Given the description of an element on the screen output the (x, y) to click on. 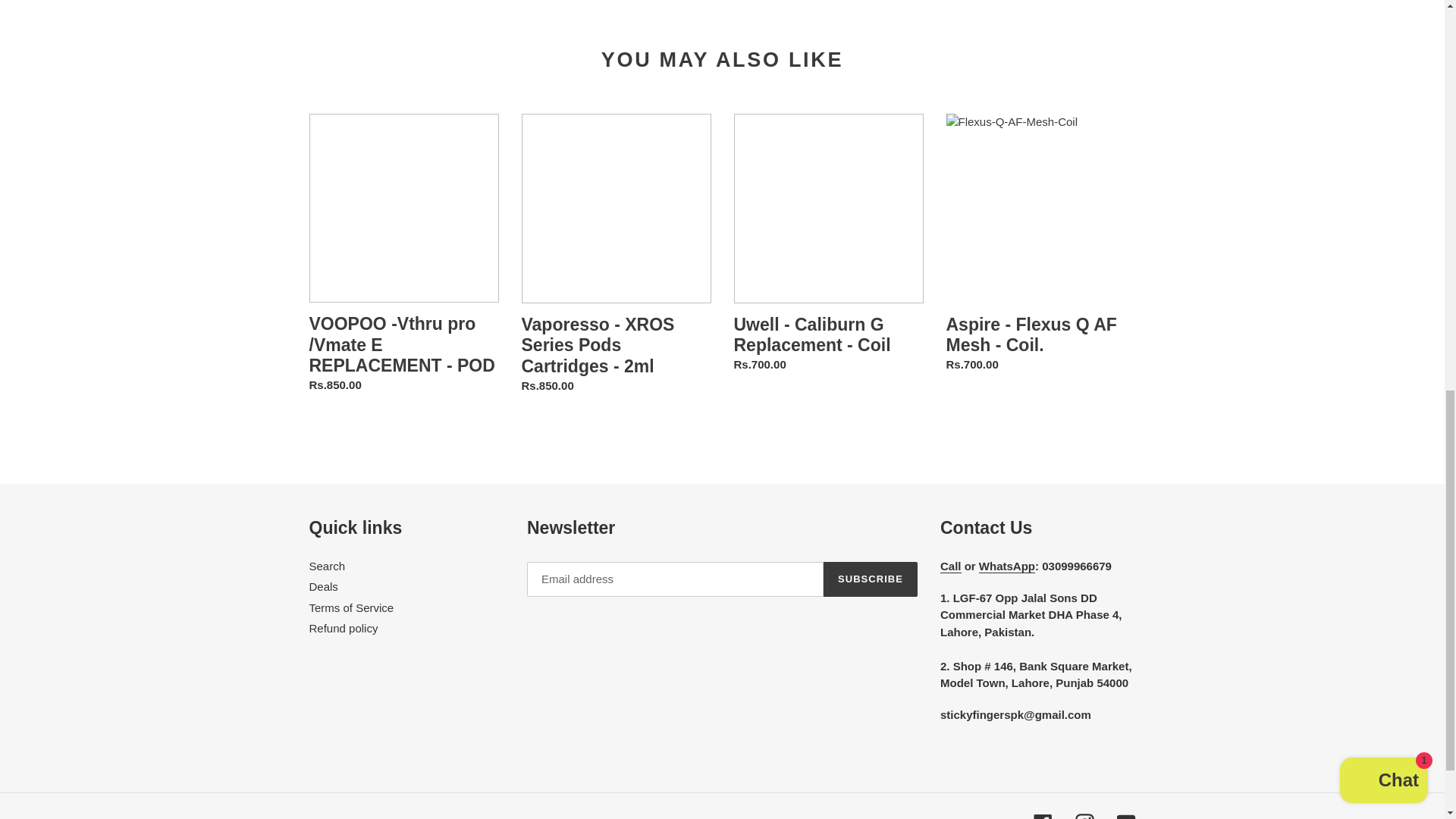
tel:03099966679 (950, 566)
